Given the description of an element on the screen output the (x, y) to click on. 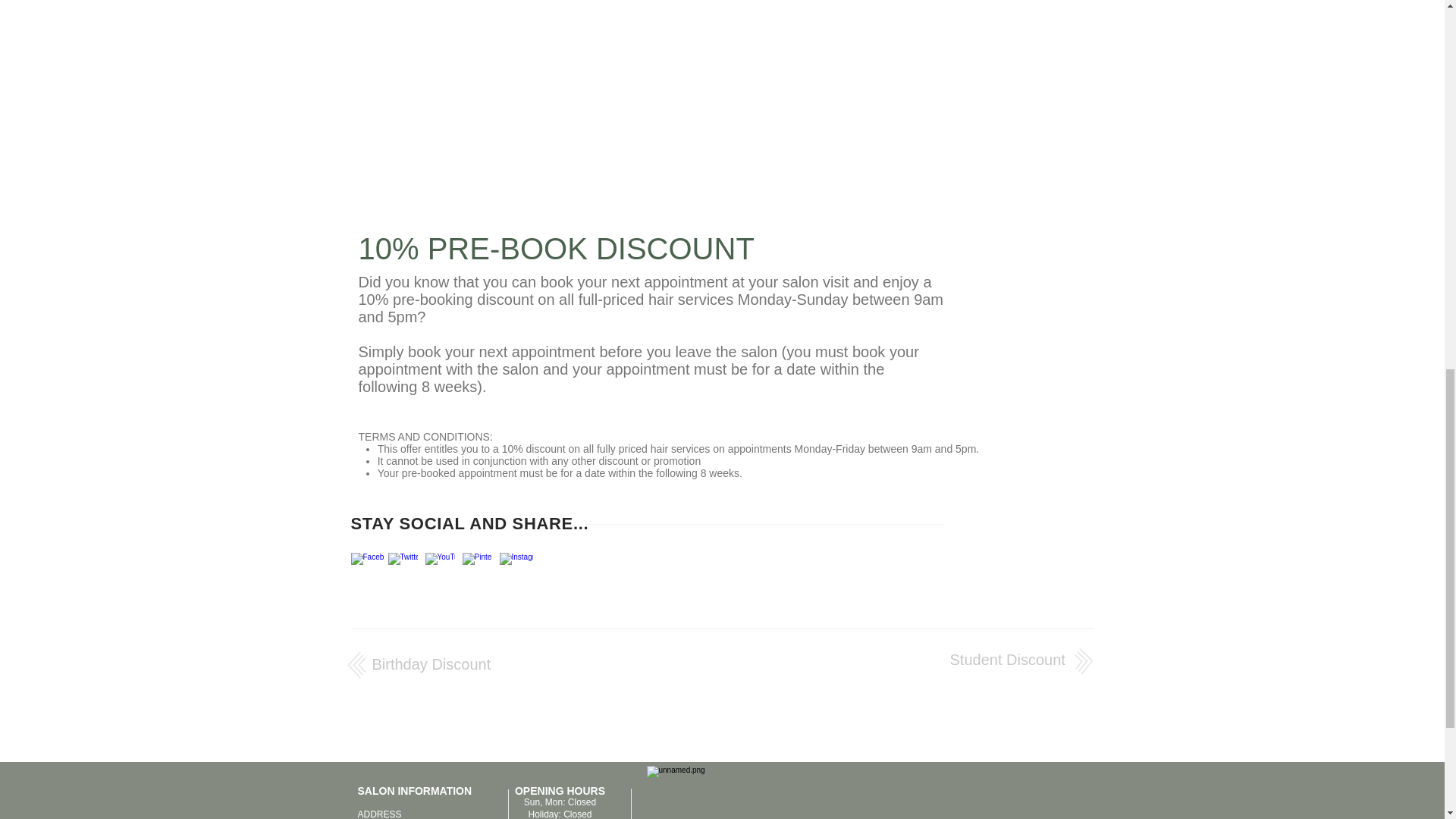
Student Discount (1006, 659)
Birthday Discount (430, 664)
